Given the description of an element on the screen output the (x, y) to click on. 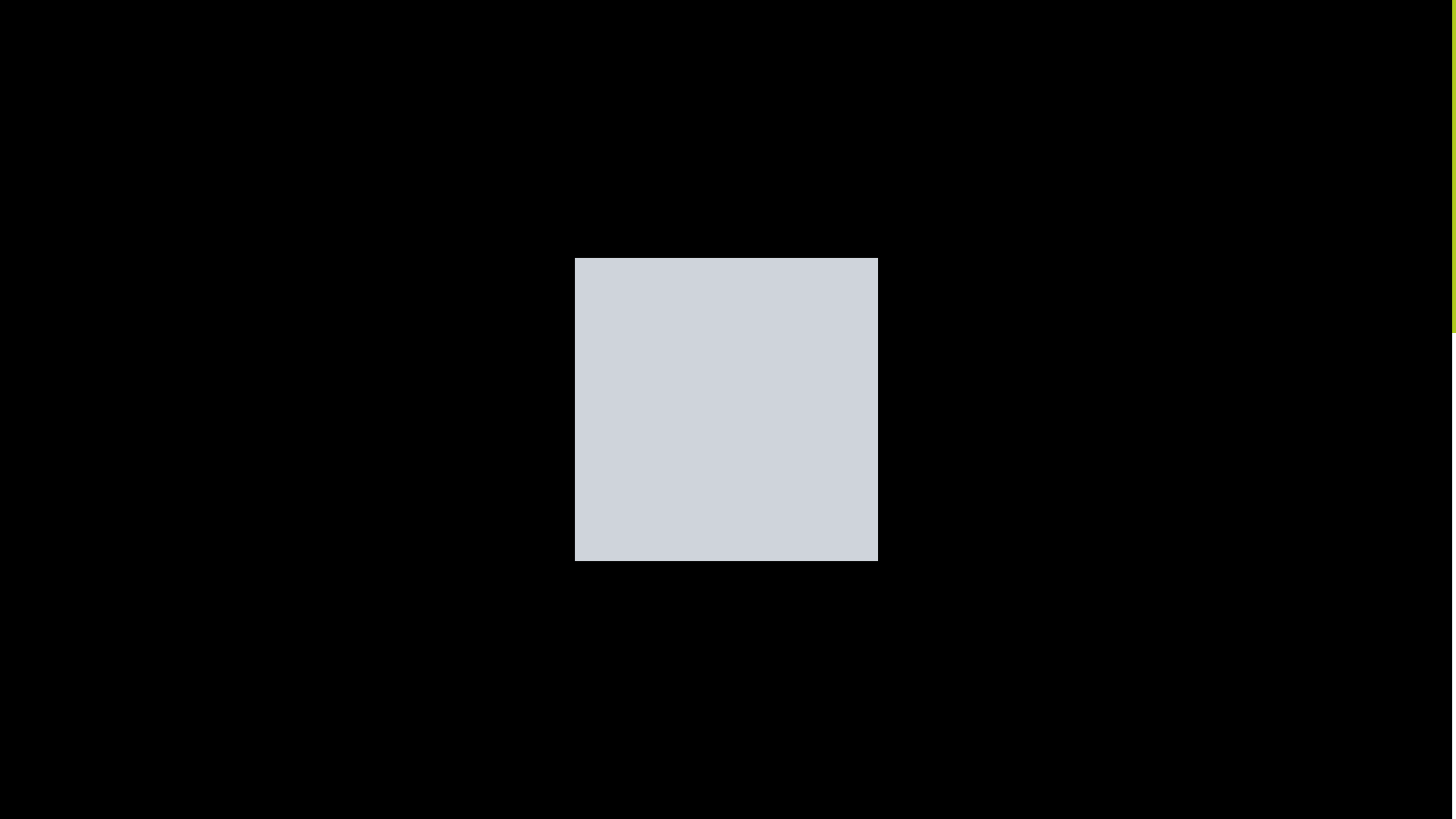
Parents (758, 792)
Home (378, 176)
Pupil (803, 792)
